Given the description of an element on the screen output the (x, y) to click on. 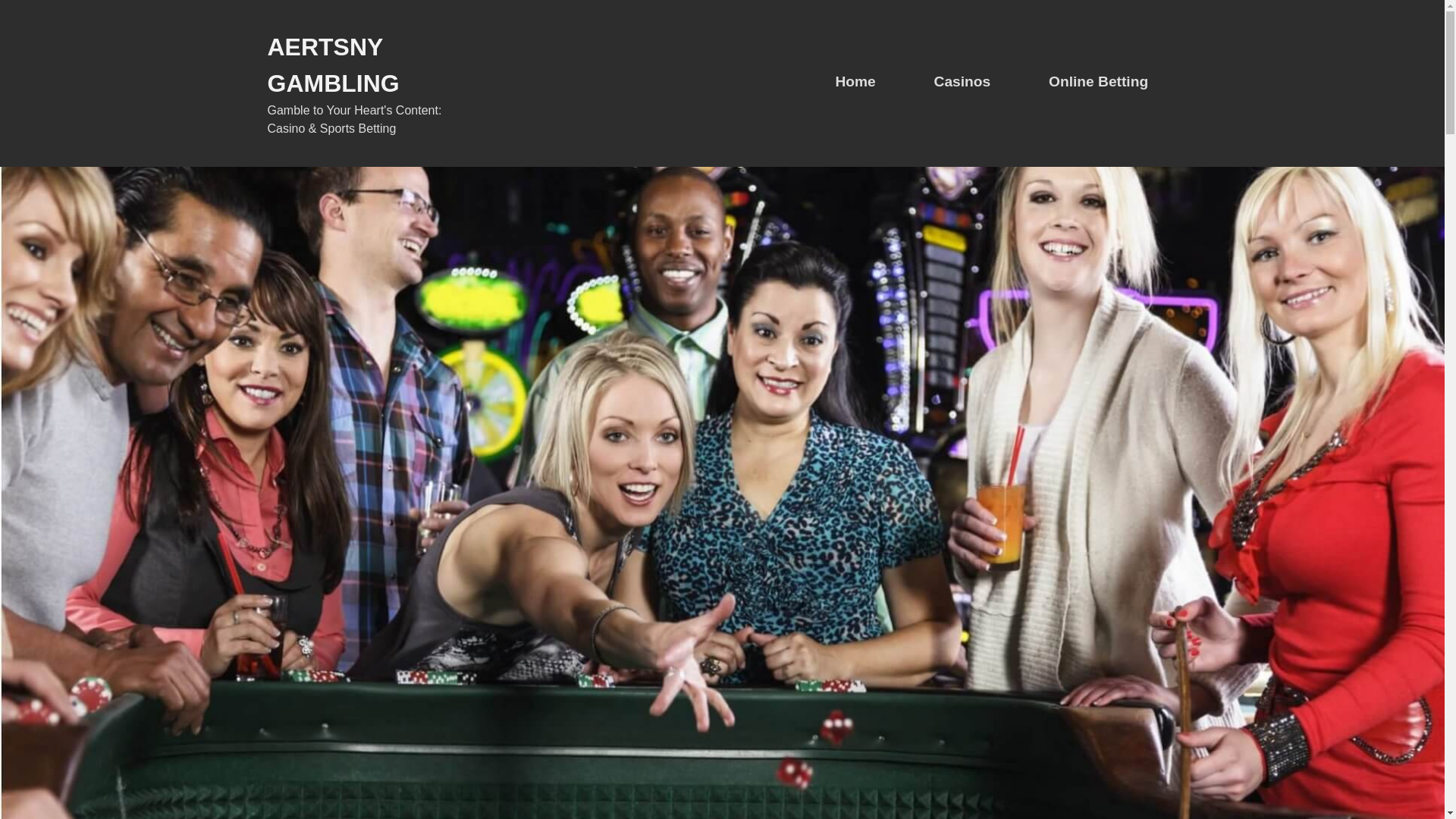
Online Betting (1098, 82)
Home (854, 82)
Casinos (962, 82)
